Given the description of an element on the screen output the (x, y) to click on. 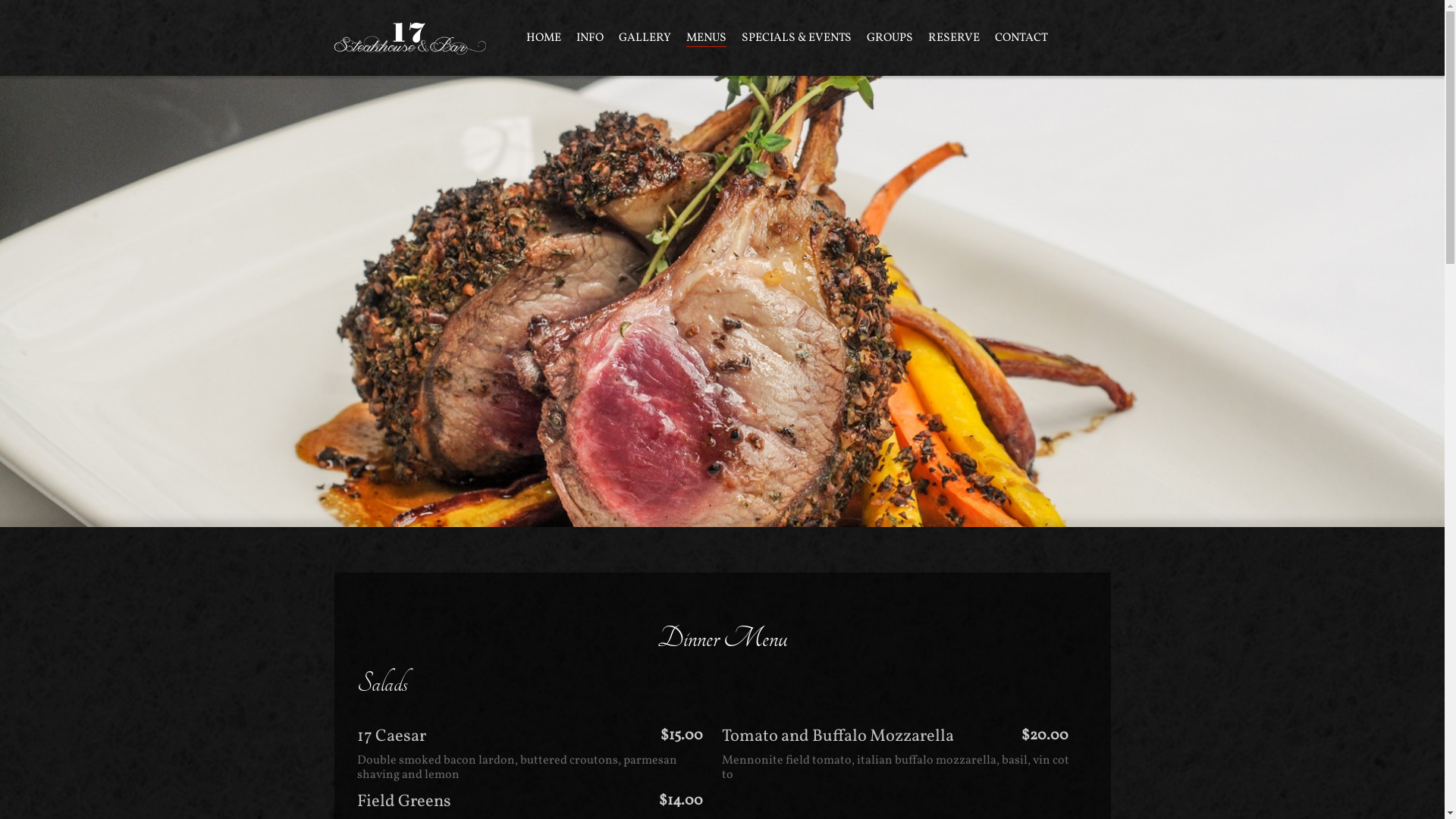
INFO Element type: text (589, 37)
GROUPS Element type: text (889, 37)
CONTACT Element type: text (1021, 37)
SPECIALS & EVENTS Element type: text (796, 37)
MENUS Element type: text (705, 38)
GALLERY Element type: text (644, 37)
HOME Element type: text (543, 37)
RESERVE Element type: text (953, 37)
